Given the description of an element on the screen output the (x, y) to click on. 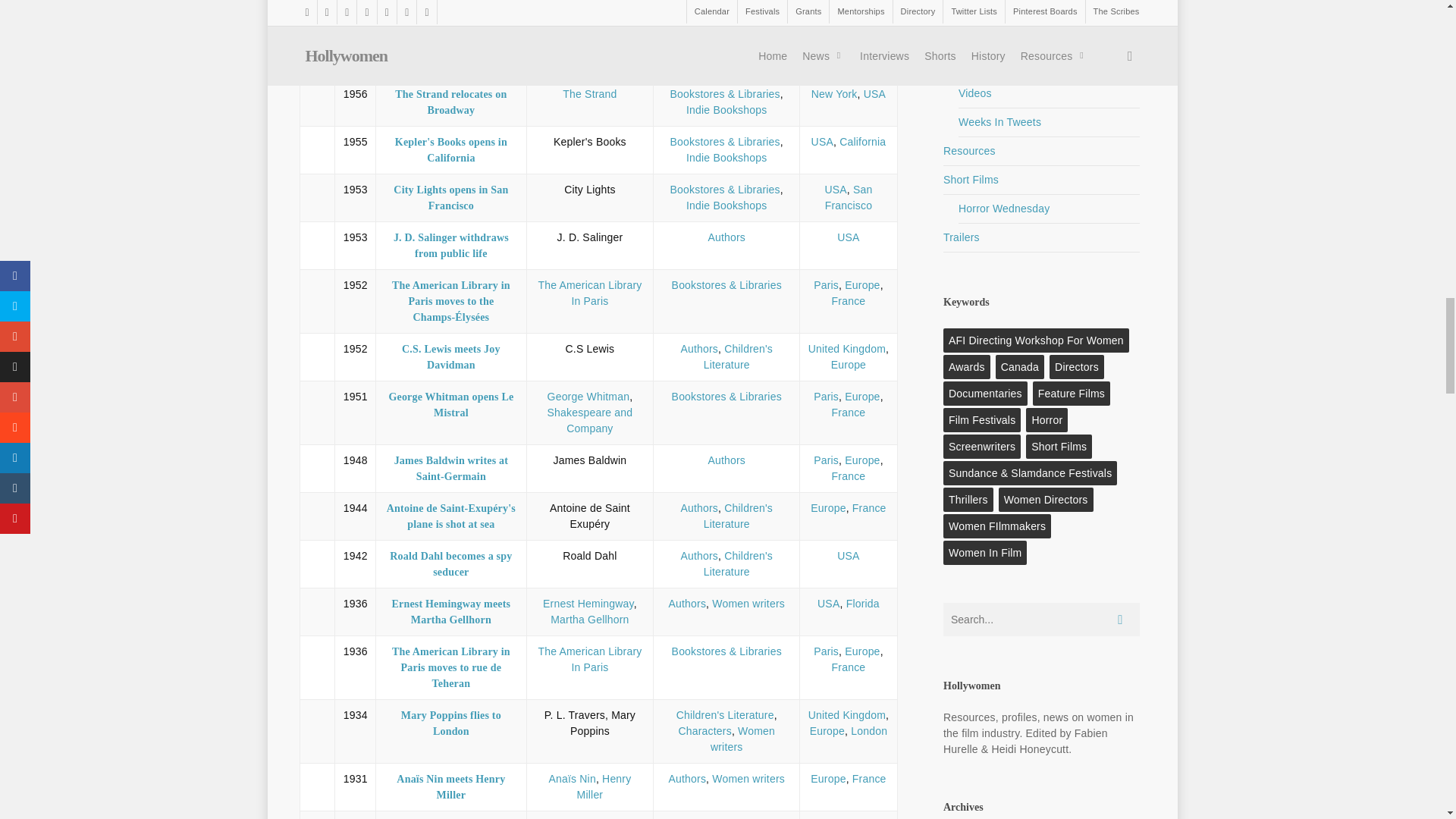
Search for: (1041, 619)
